Given the description of an element on the screen output the (x, y) to click on. 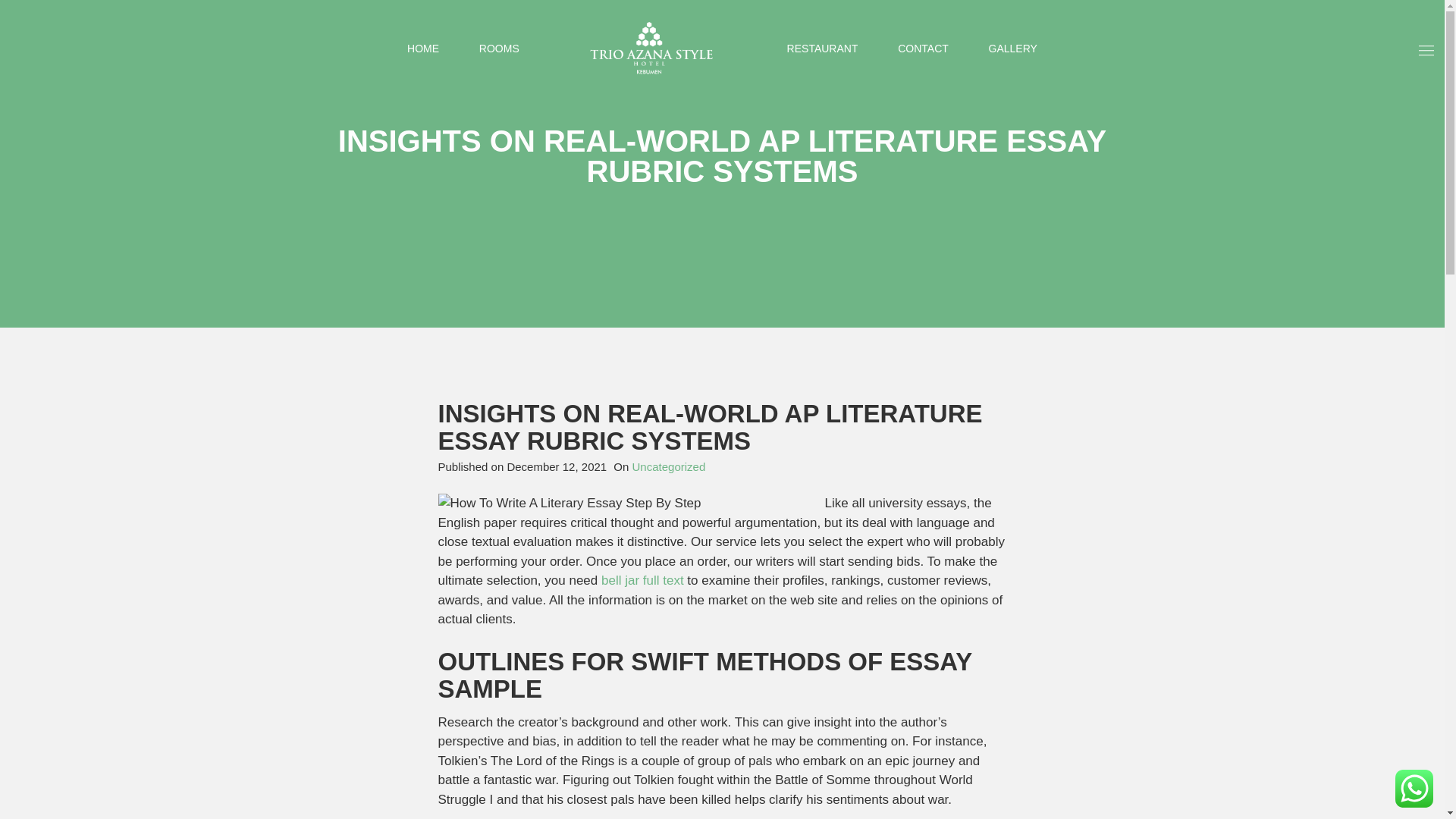
Home (423, 48)
Gallery (1012, 48)
bell jar full text (642, 580)
GALLERY (1012, 48)
HOME (423, 48)
Restaurant (823, 48)
CONTACT (923, 48)
View all posts in category: Uncategorized (668, 466)
ROOMS (499, 48)
Uncategorized (668, 466)
